Given the description of an element on the screen output the (x, y) to click on. 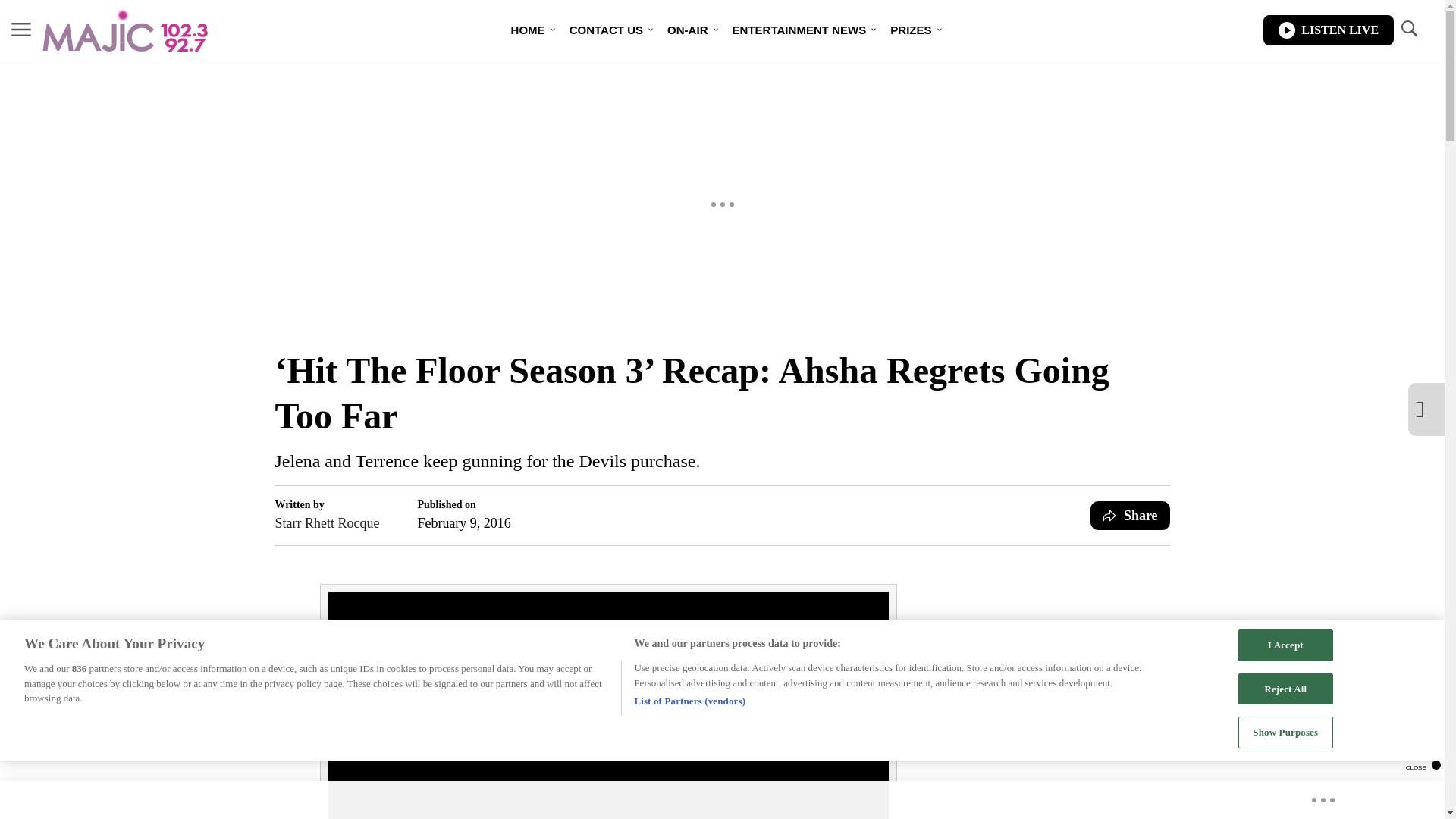
MENU (20, 30)
CONTACT US (606, 30)
ENTERTAINMENT NEWS (799, 30)
TOGGLE SEARCH (1408, 30)
MENU (20, 29)
LISTEN LIVE (1328, 30)
Starr Rhett Rocque (326, 522)
Share (1130, 515)
ON-AIR (687, 30)
TOGGLE SEARCH (1408, 28)
PRIZES (910, 30)
HOME (528, 30)
